Given the description of an element on the screen output the (x, y) to click on. 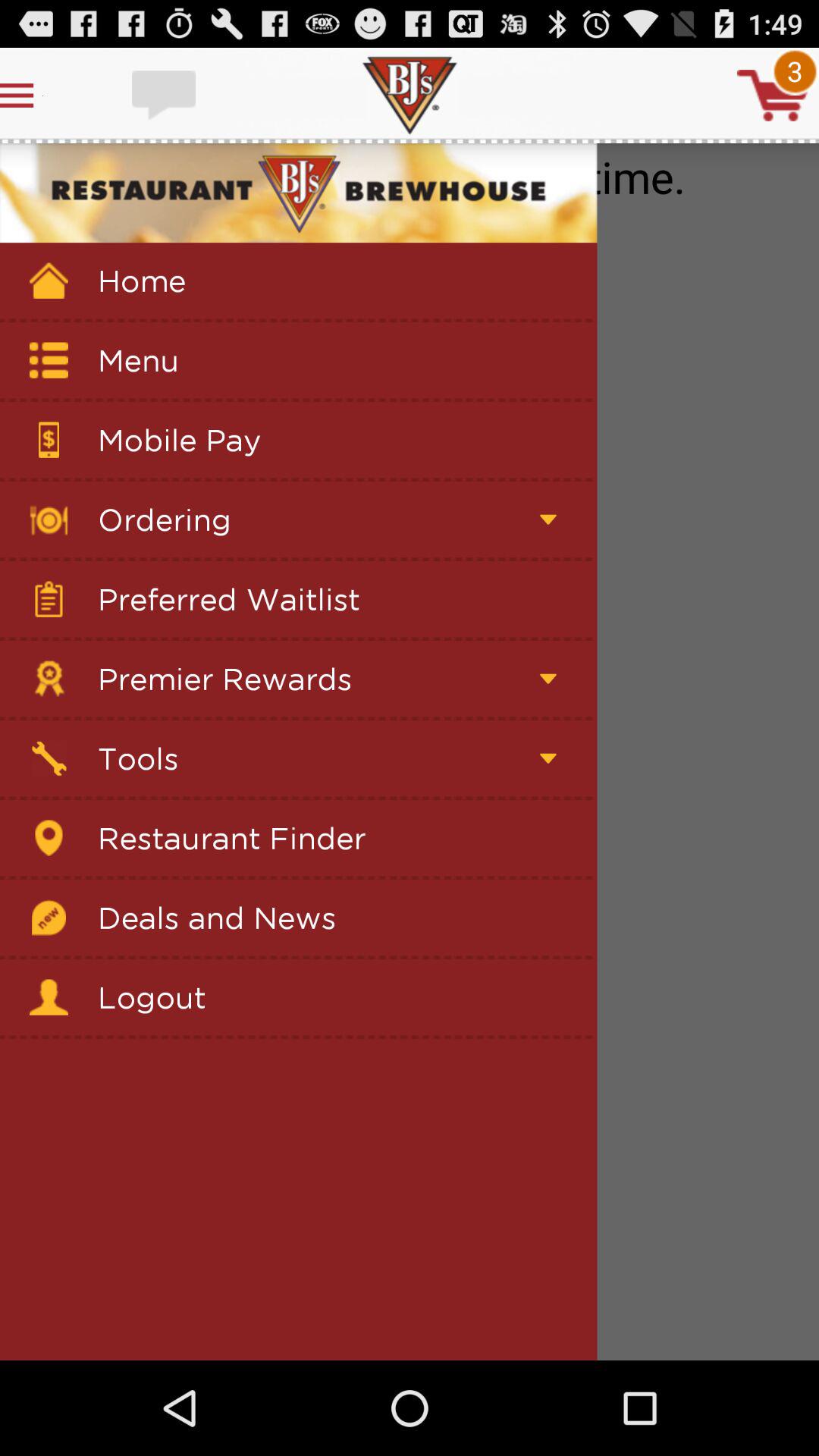
message the restaurant (165, 95)
